Given the description of an element on the screen output the (x, y) to click on. 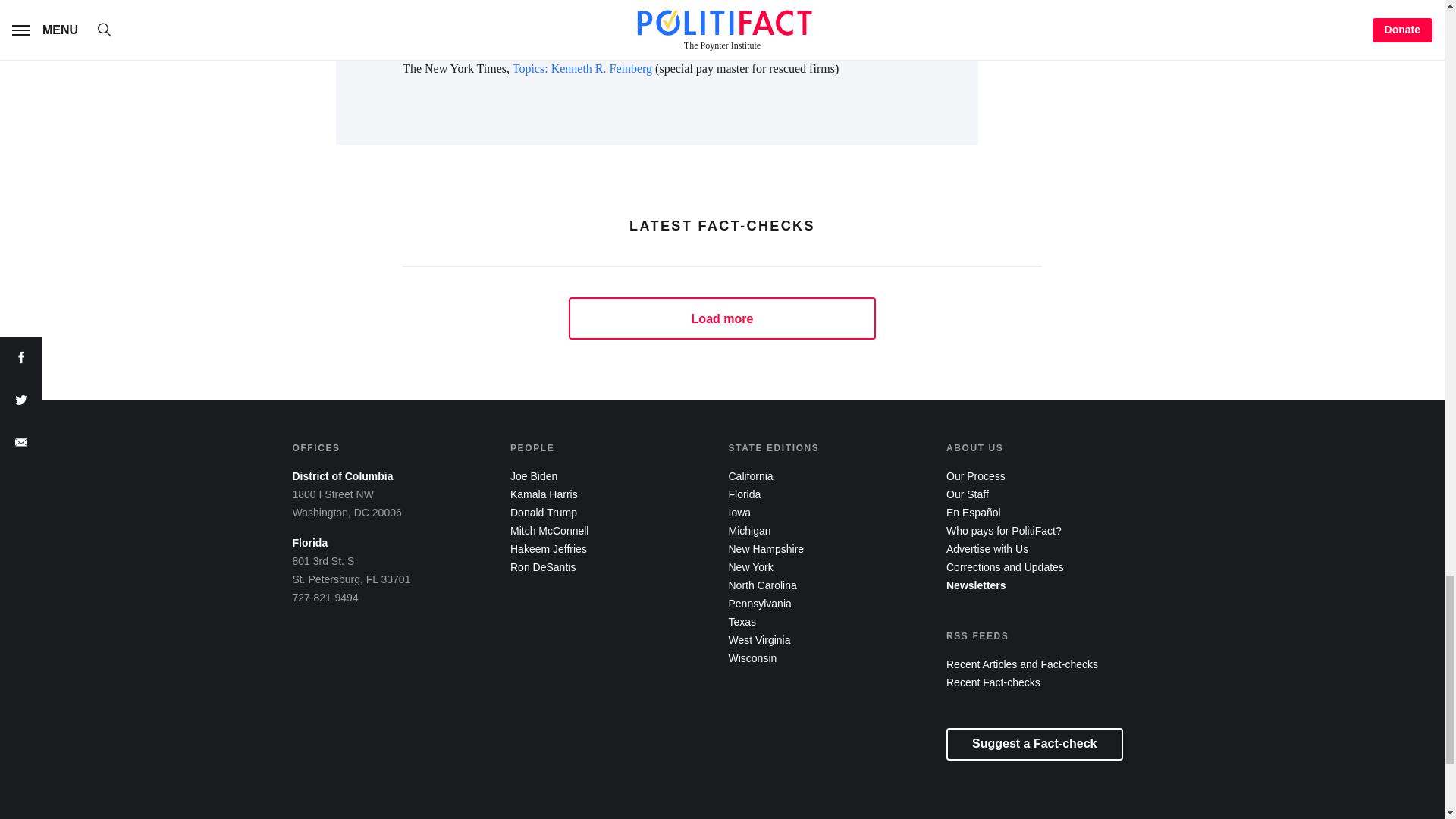
H.R. 3652 (474, 31)
Topics: Kenneth R. Feinberg (583, 68)
